Given the description of an element on the screen output the (x, y) to click on. 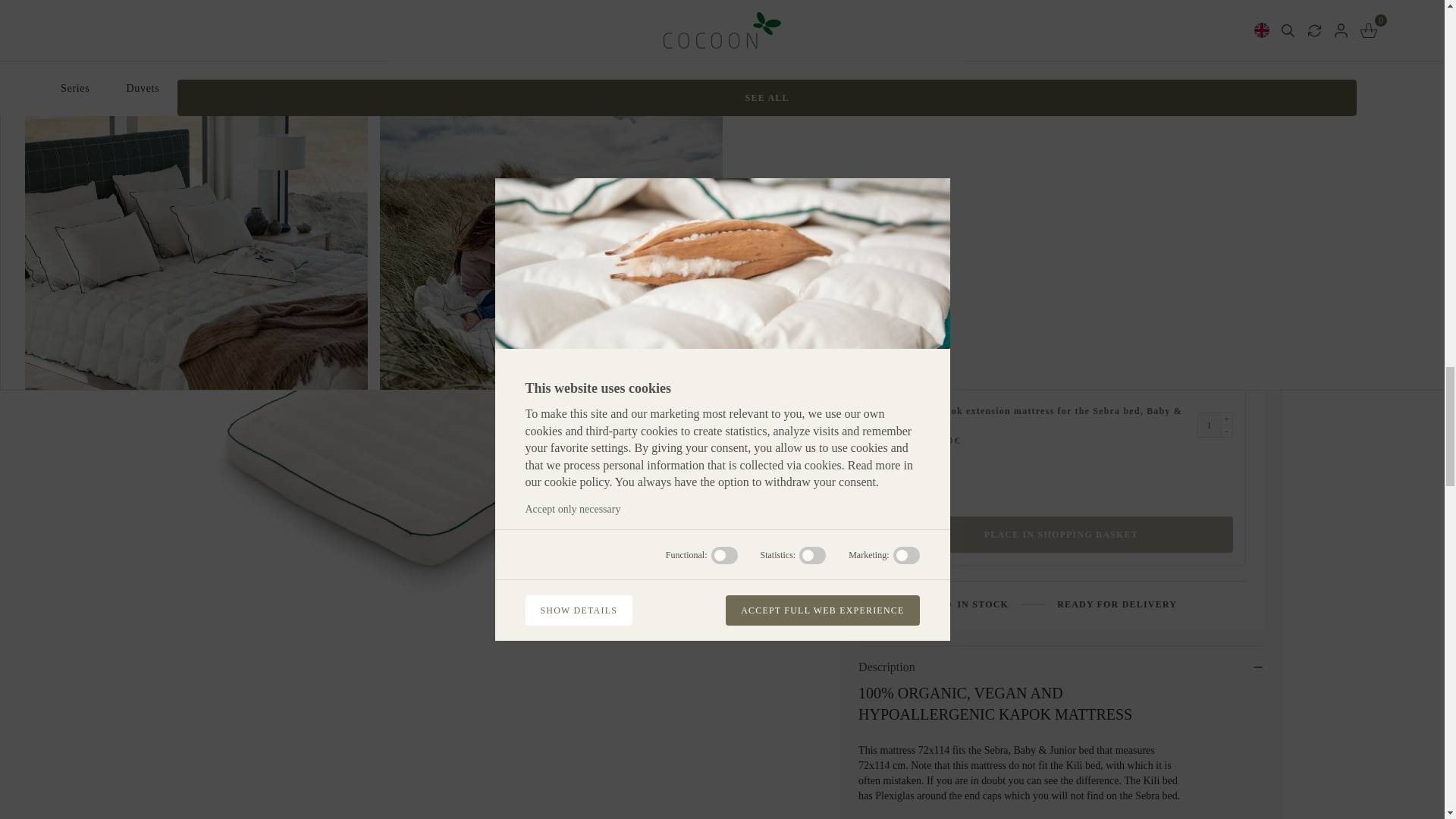
Kapok mattress pad for the Sebra bed (907, 303)
Enter amount (1208, 179)
Enter amount (1208, 424)
Enter amount (901, 77)
Enter amount (1208, 241)
1 (1208, 302)
Enter amount (1208, 302)
Waterproof mattress protector for the Sebra bed (907, 180)
1 (1208, 241)
1 (1208, 179)
